Given the description of an element on the screen output the (x, y) to click on. 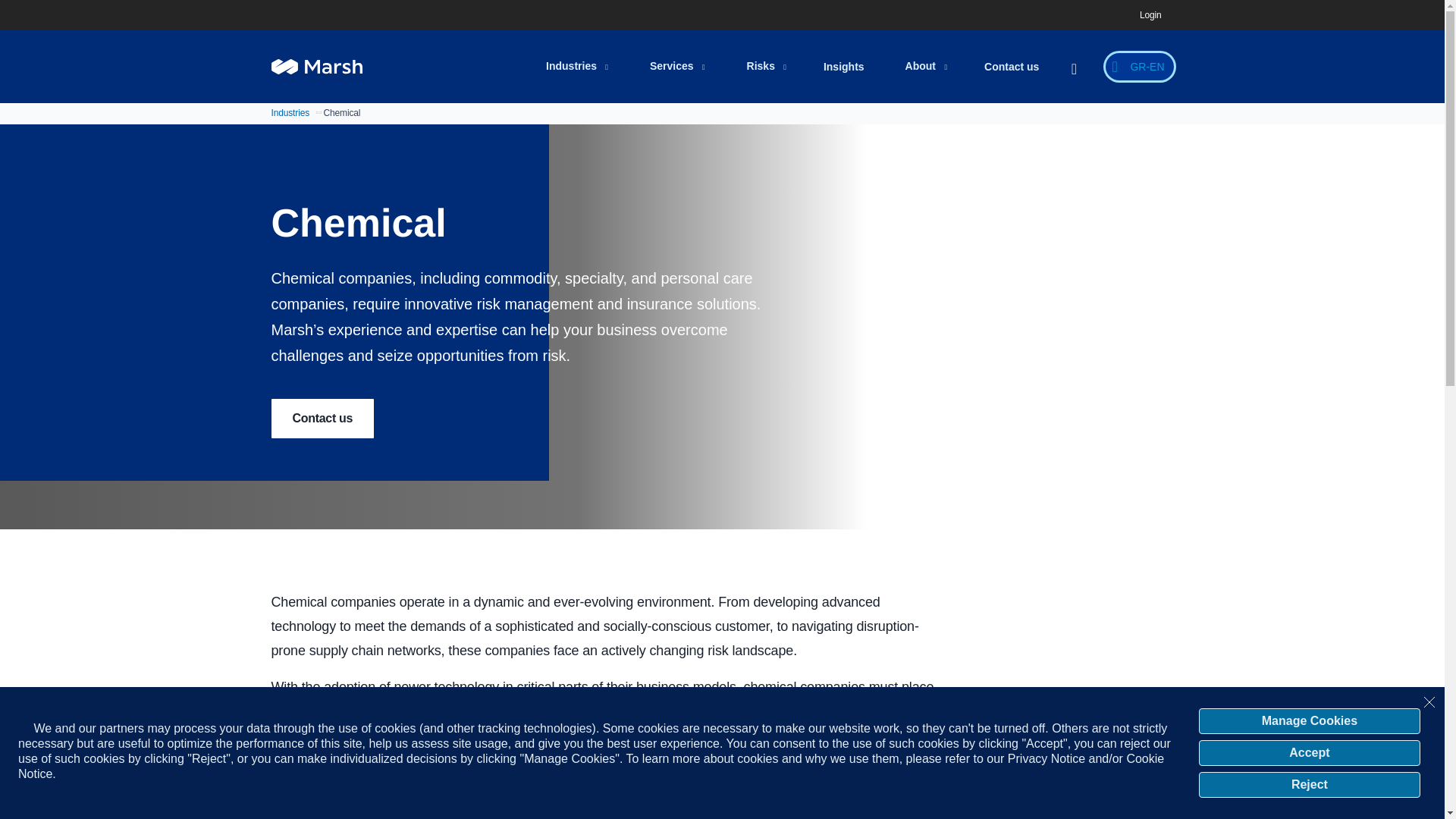
Skip to main content (731, 10)
Login (1150, 14)
Industries (577, 66)
Manage Cookies (1309, 720)
Reject (1309, 784)
Accept (1309, 752)
